Given the description of an element on the screen output the (x, y) to click on. 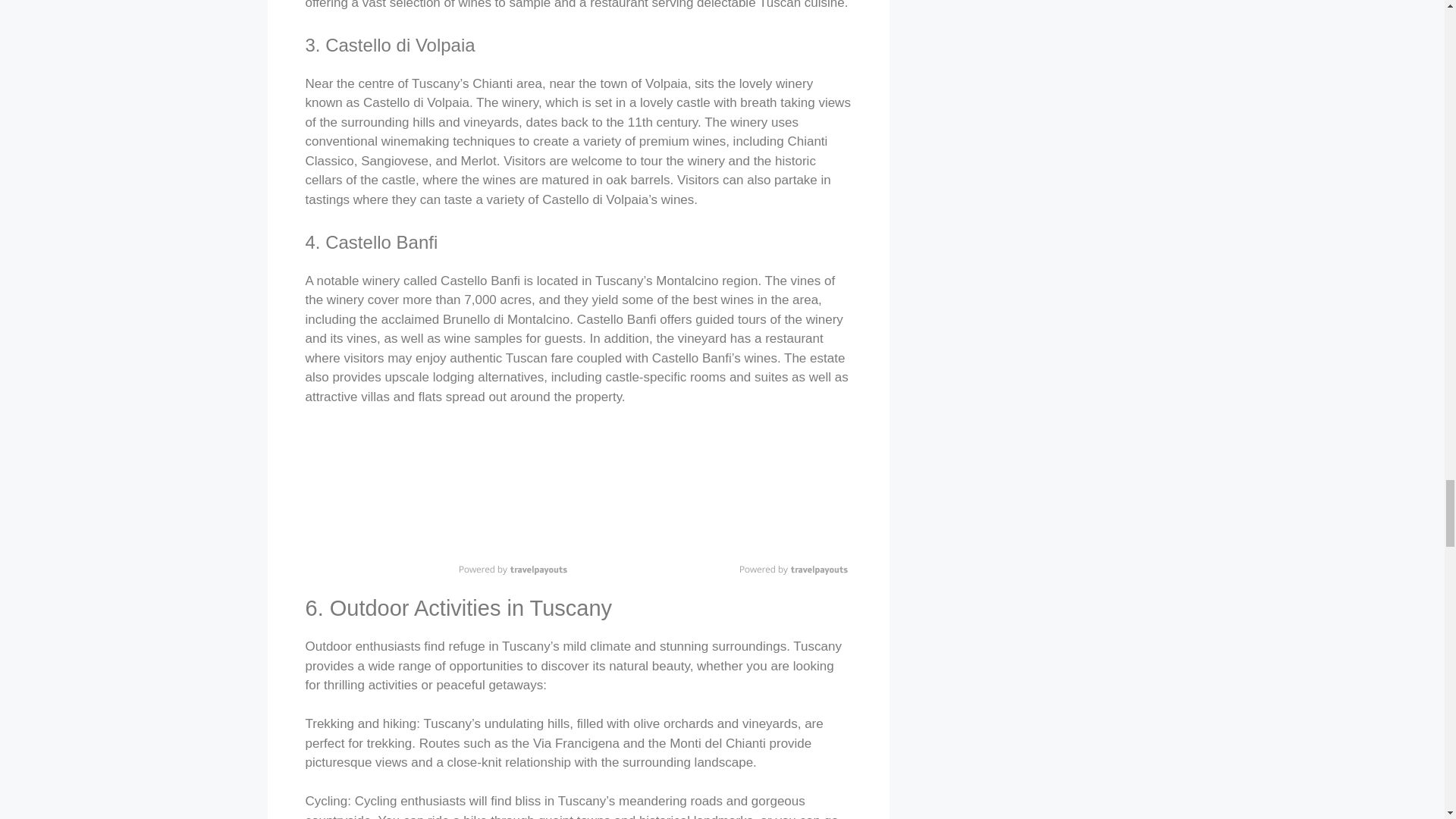
GetYourGuide Widget (717, 498)
GetYourGuide Widget (437, 498)
